Given the description of an element on the screen output the (x, y) to click on. 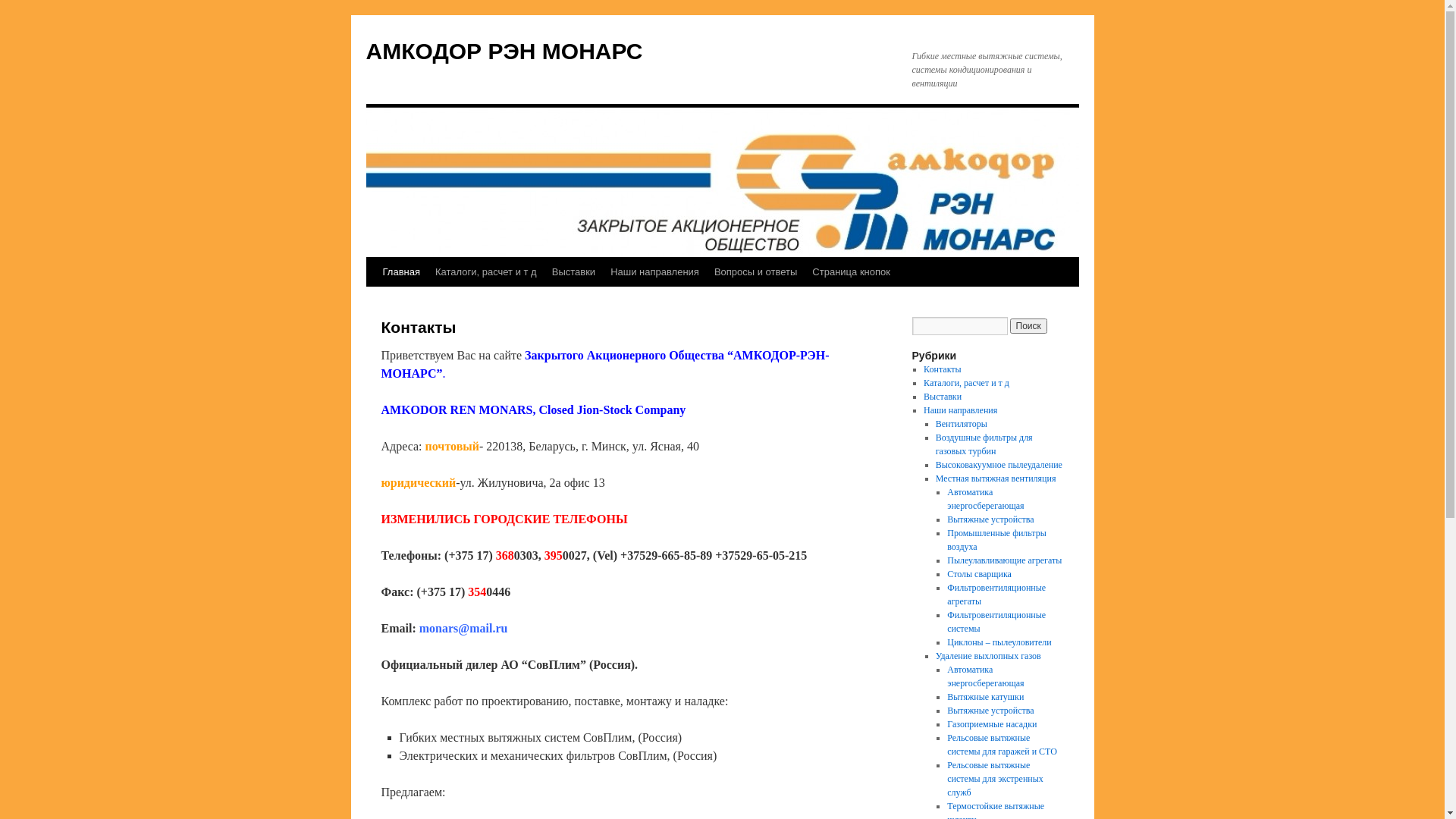
Skip to content Element type: text (372, 300)
